Given the description of an element on the screen output the (x, y) to click on. 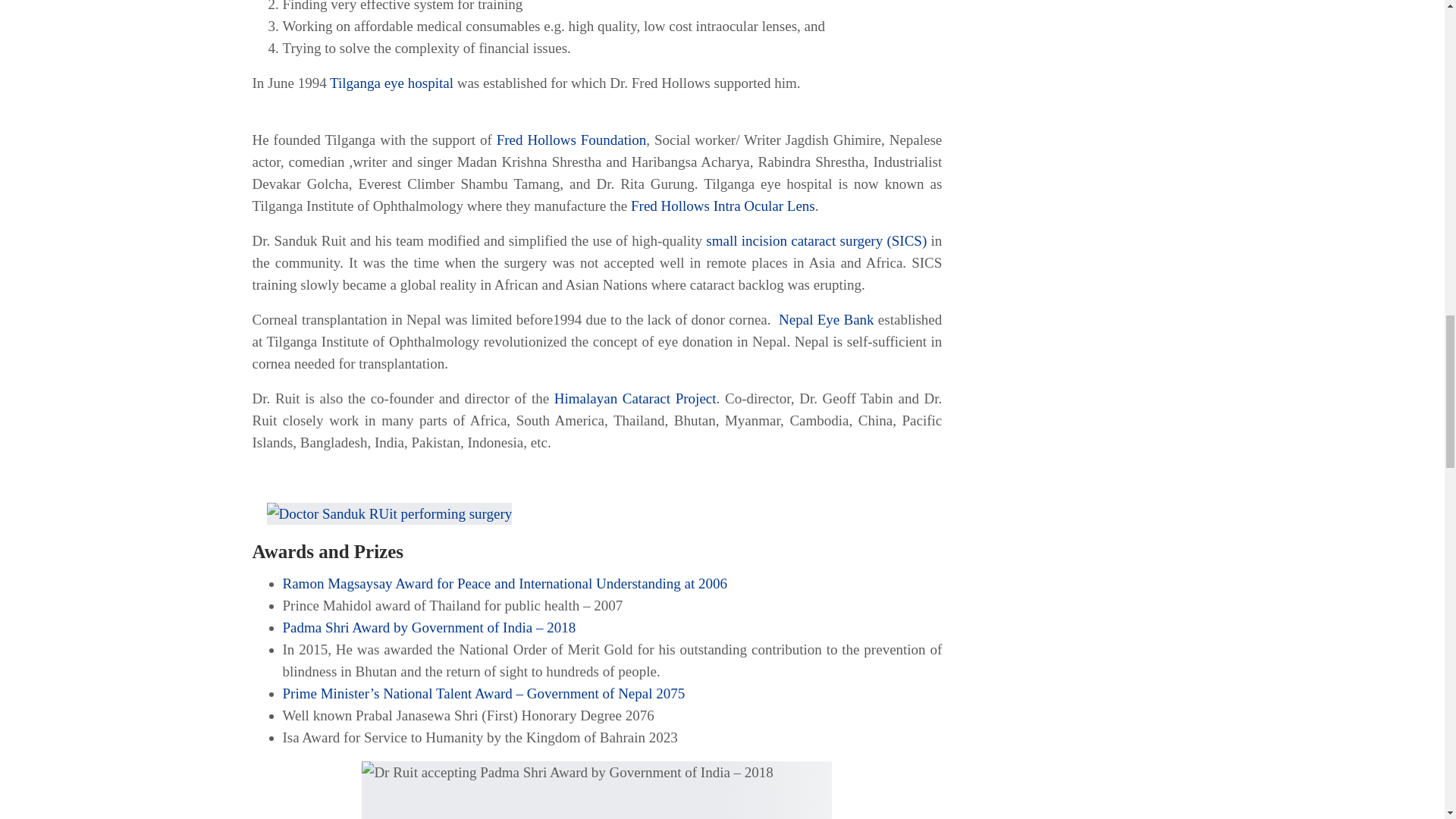
Nepal Eye Bank (824, 319)
Fred Hollows Foundation (571, 139)
Himalayan Cataract Project (635, 398)
Tilganga eye hospital (391, 82)
Fred Hollows Intra Ocular Lens (722, 205)
